Given the description of an element on the screen output the (x, y) to click on. 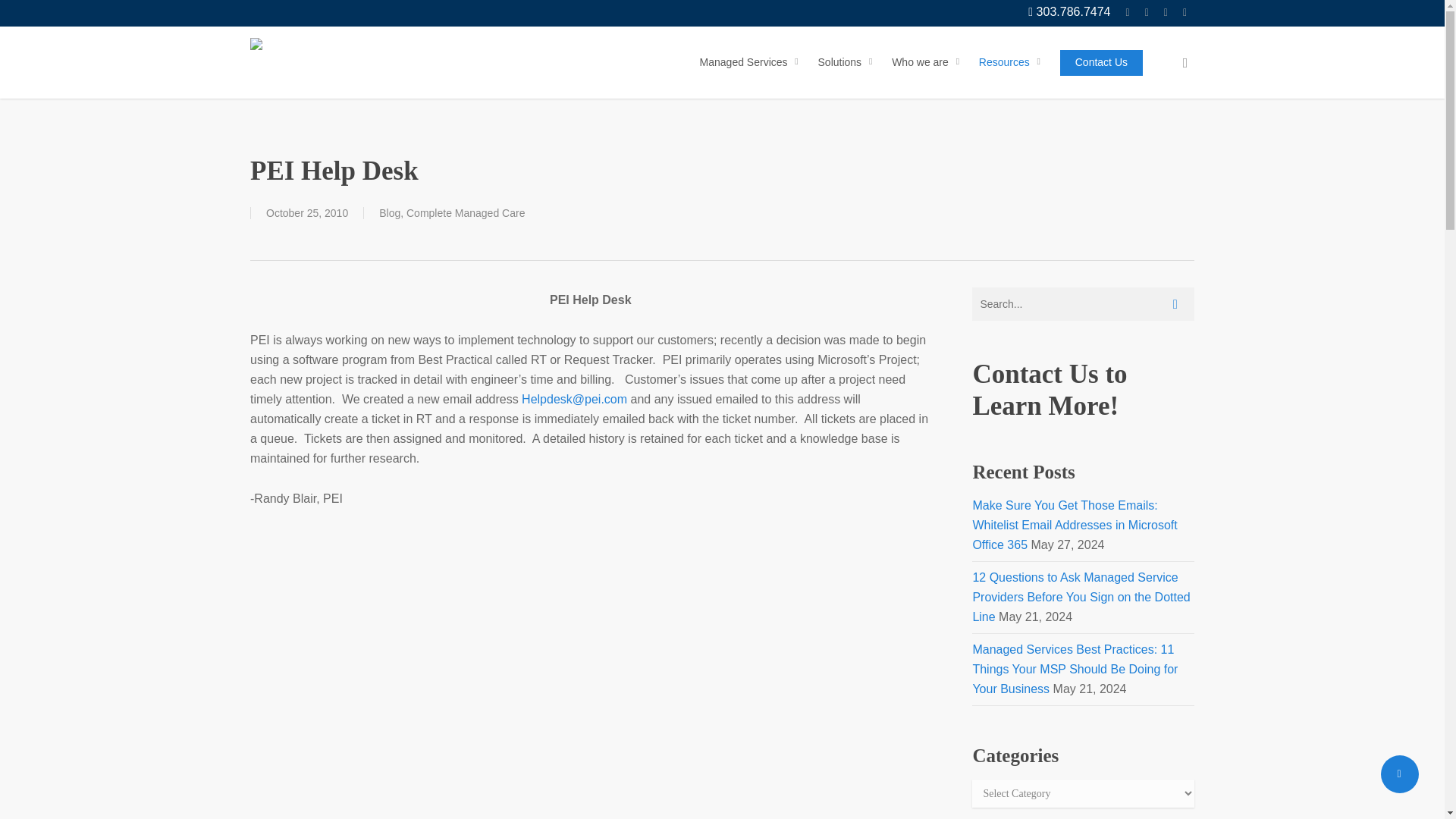
Who we are (927, 61)
303.786.7474 (1069, 12)
Managed Services (751, 61)
Solutions (847, 61)
Search for: (1082, 304)
